Given the description of an element on the screen output the (x, y) to click on. 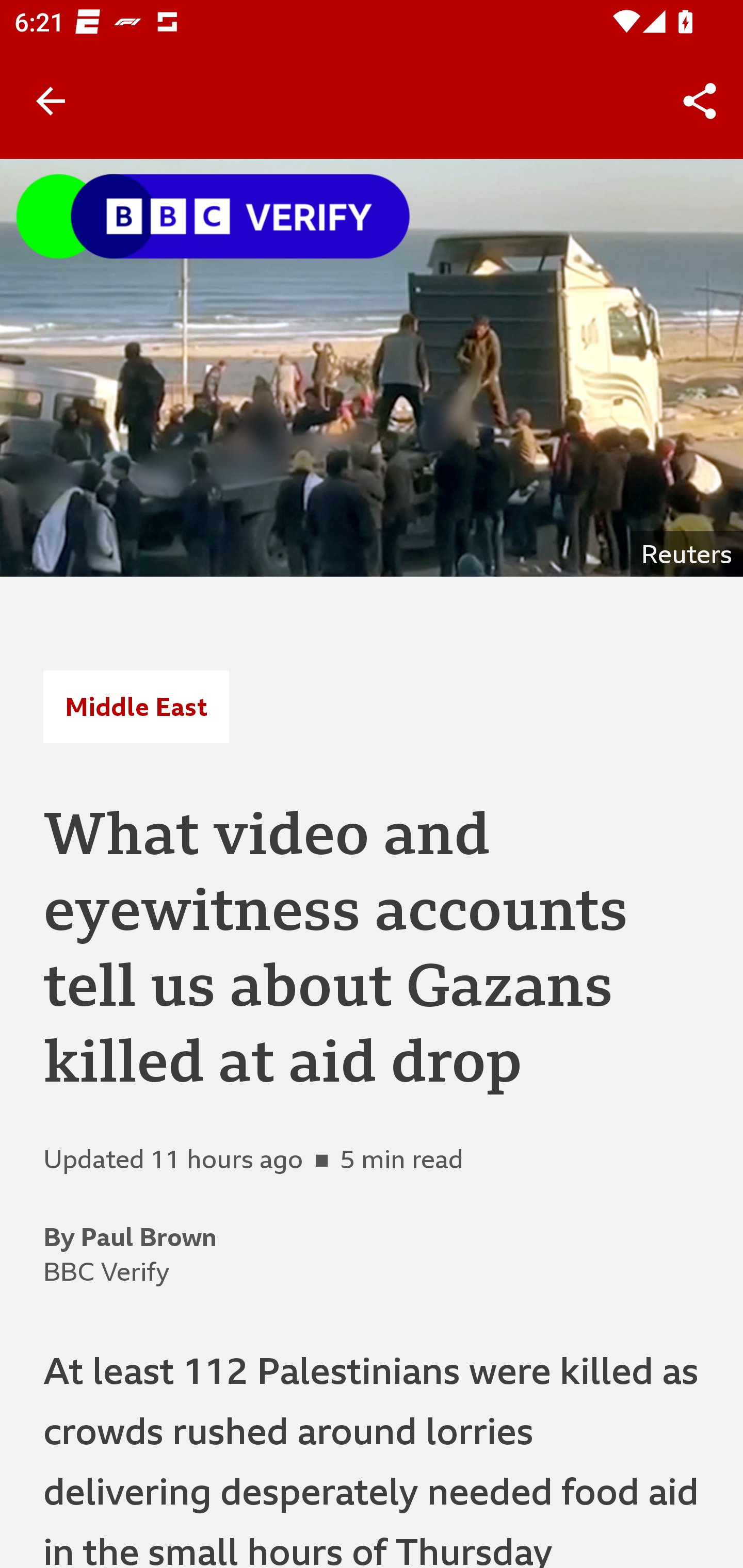
Back (50, 101)
Share (699, 101)
Middle East (135, 706)
